Given the description of an element on the screen output the (x, y) to click on. 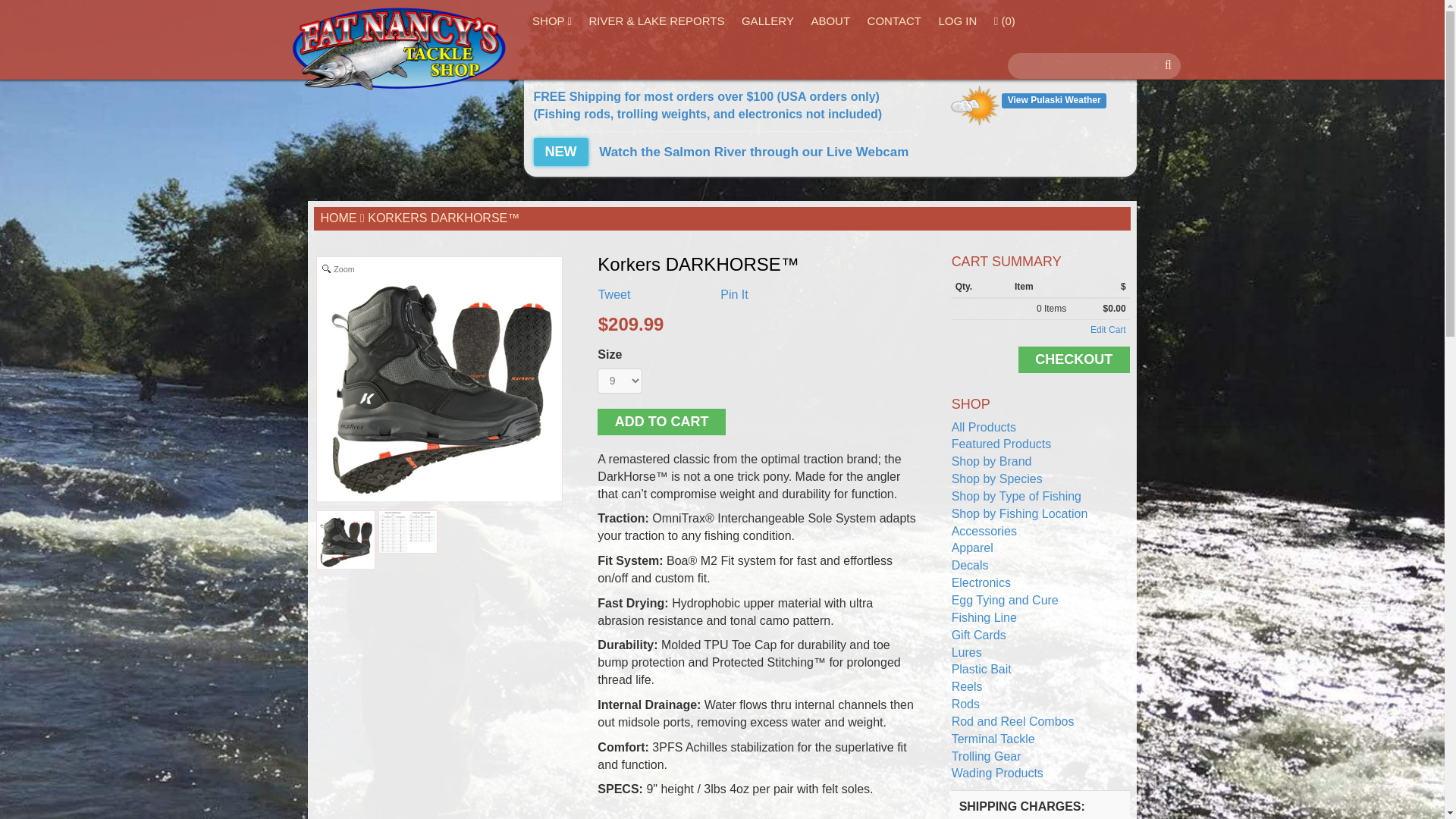
About (830, 20)
CONTACT (894, 20)
Fat Nancy's Tackle Shop (398, 48)
View Pulaski Weather (1053, 98)
SHOP (551, 20)
Salmon River NY Live Webcam webpage by Fat Nancy Tackle Shop (721, 151)
LOG IN (957, 20)
ABOUT (830, 20)
GALLERY (767, 20)
NEW Watch the Salmon River through our Live Webcam (721, 151)
Contact (894, 20)
Gallery (767, 20)
Back to the frontpage (338, 217)
